Given the description of an element on the screen output the (x, y) to click on. 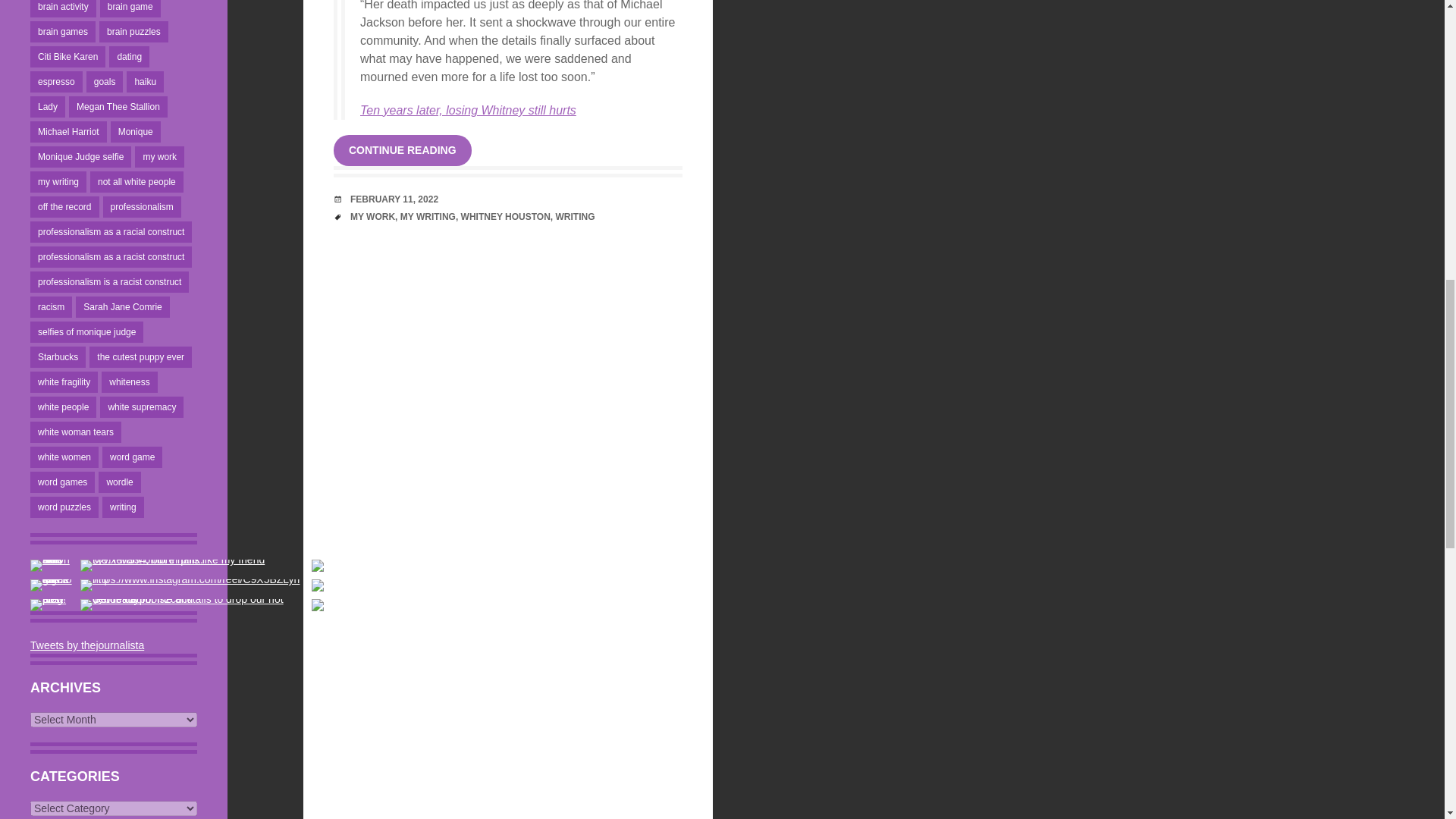
brain game (130, 8)
not all white people (136, 181)
brain activity (63, 8)
dating (129, 56)
professionalism as a racist construct (111, 256)
my work (159, 156)
Starbucks (57, 356)
brain games (63, 31)
racism (50, 306)
selfies of monique judge (86, 332)
Michael Harriot (68, 131)
Monique (135, 131)
espresso (56, 81)
haiku (144, 81)
Monique Judge selfie (80, 156)
